Given the description of an element on the screen output the (x, y) to click on. 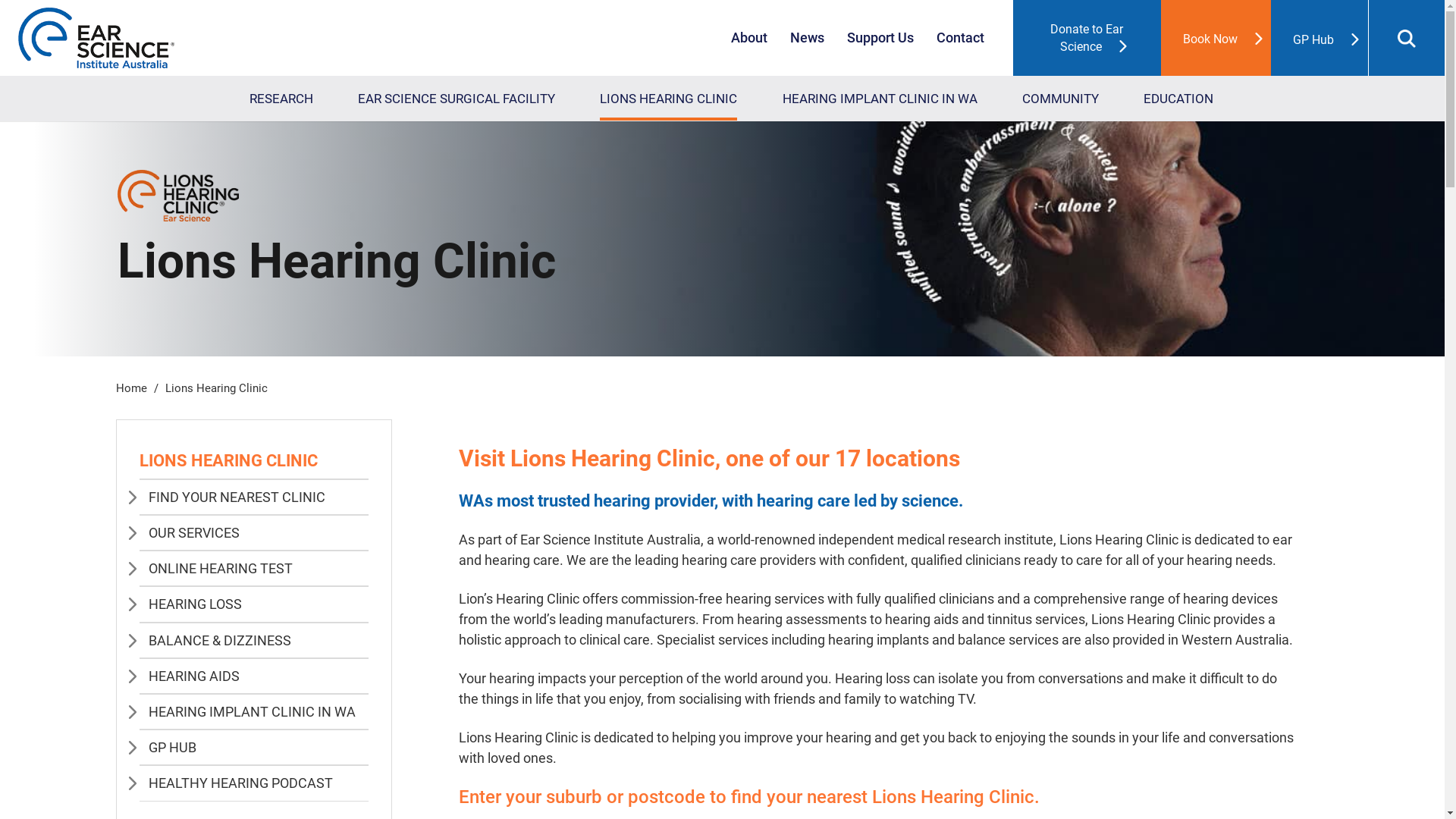
Donate to Ear Science Element type: text (1087, 37)
News Element type: text (806, 37)
HEARING LOSS Element type: text (194, 603)
BALANCE & DIZZINESS Element type: text (219, 640)
Lions Hearing Clinic Element type: text (216, 388)
Support Us Element type: text (880, 37)
OUR SERVICES Element type: text (193, 532)
RESEARCH Element type: text (280, 98)
EDUCATION Element type: text (1177, 98)
Contact Element type: text (960, 37)
HEARING IMPLANT CLINIC IN WA Element type: text (880, 98)
FIND YOUR NEAREST CLINIC Element type: text (236, 497)
Home Element type: text (130, 388)
EAR SCIENCE SURGICAL FACILITY Element type: text (456, 98)
Book Now Element type: text (1216, 37)
ONLINE HEARING TEST Element type: text (220, 568)
GP Hub Element type: text (1319, 38)
About Element type: text (748, 37)
LIONS HEARING CLINIC Element type: text (668, 98)
HEARING AIDS Element type: text (193, 676)
HEALTHY HEARING PODCAST Element type: text (240, 782)
GP HUB Element type: text (172, 747)
HEARING IMPLANT CLINIC IN WA Element type: text (251, 711)
COMMUNITY Element type: text (1060, 98)
